Given the description of an element on the screen output the (x, y) to click on. 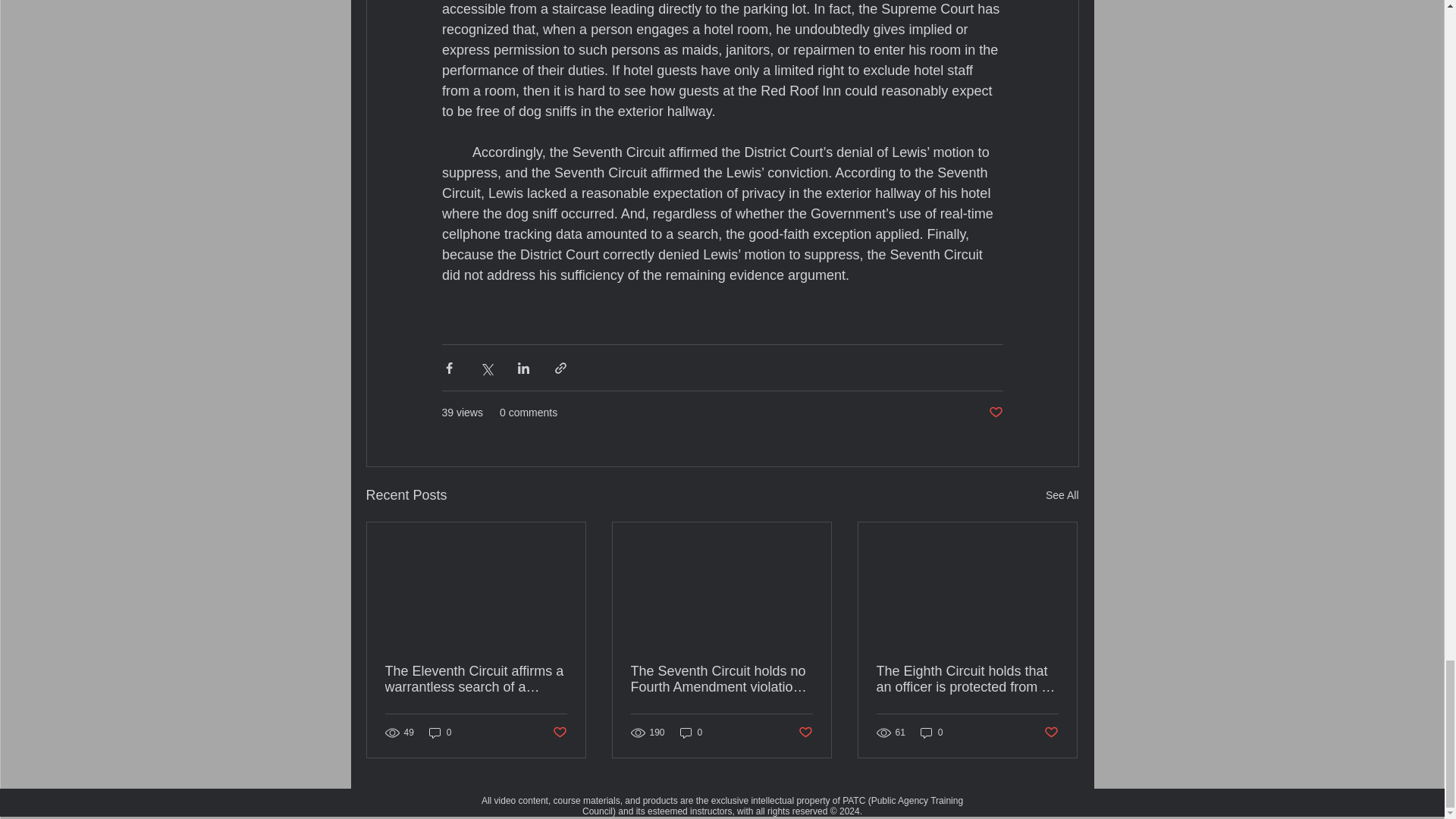
0 (440, 732)
Post not marked as liked (558, 732)
Post not marked as liked (995, 412)
See All (1061, 495)
